Given the description of an element on the screen output the (x, y) to click on. 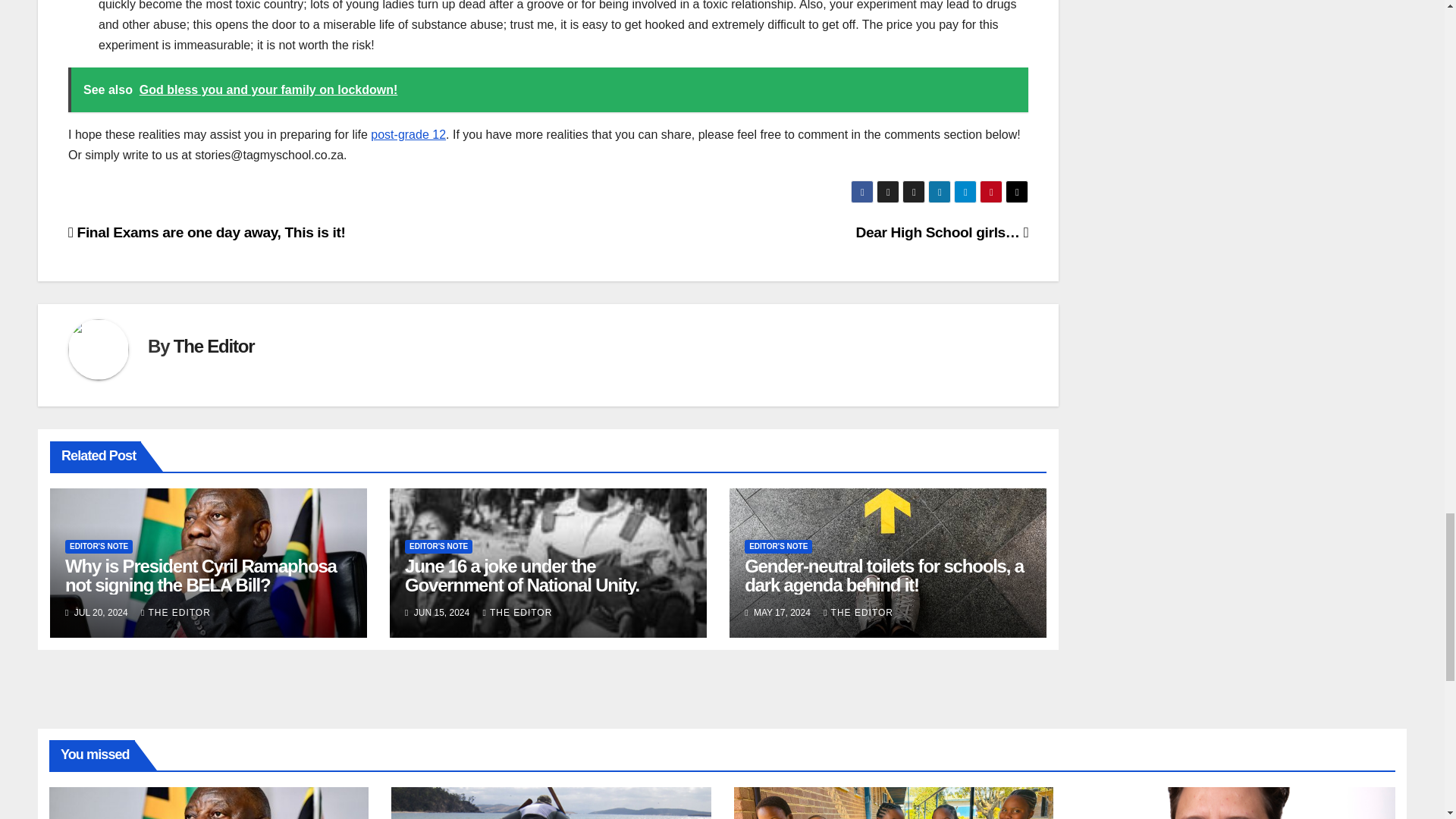
EDITOR'S NOTE (437, 546)
post-grade 12 (408, 133)
See also  God bless you and your family on lockdown! (547, 89)
Final Exams are one day away, This is it! (207, 232)
The Editor (213, 345)
THE EDITOR (176, 612)
EDITOR'S NOTE (98, 546)
